Given the description of an element on the screen output the (x, y) to click on. 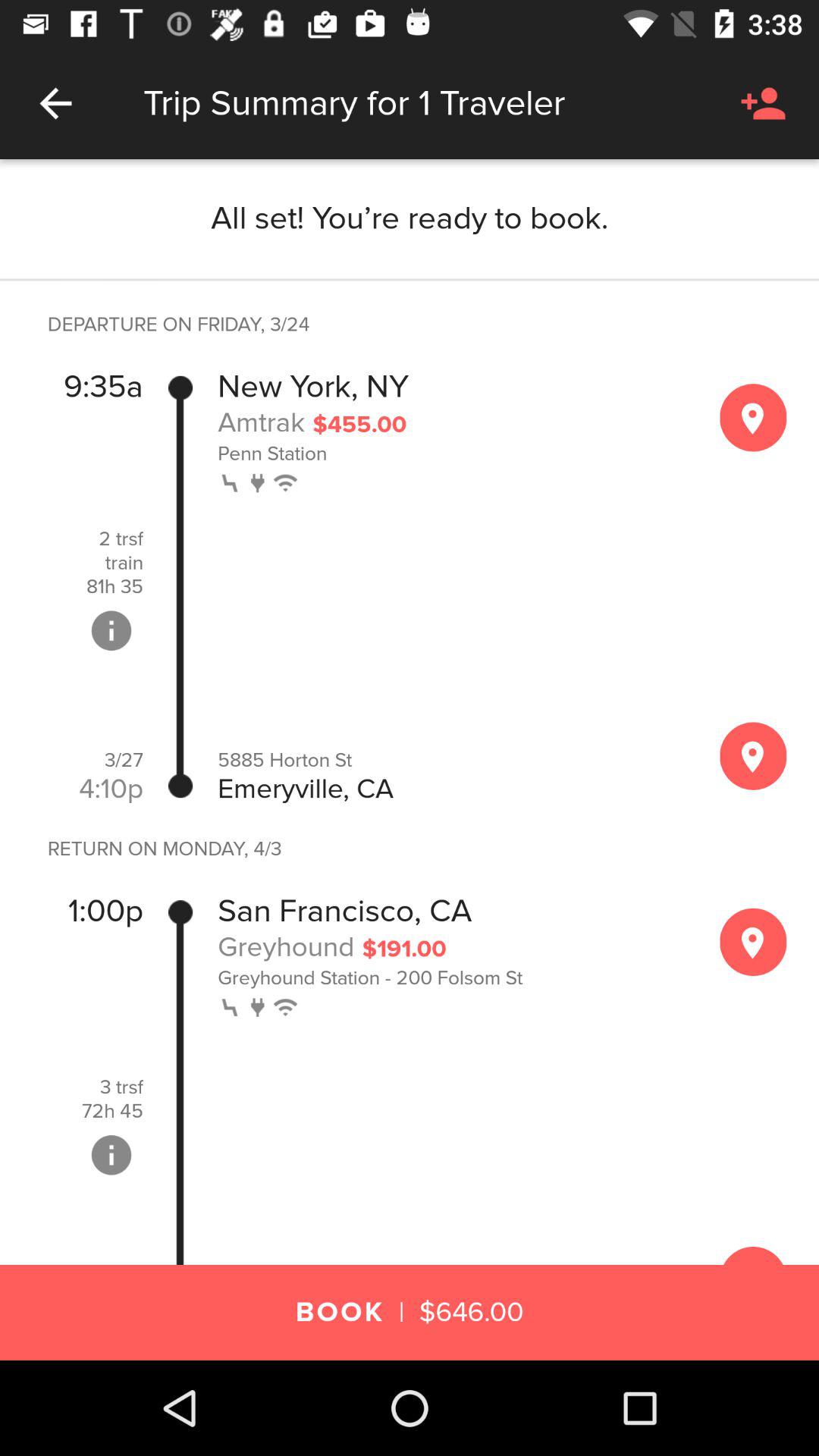
info details (111, 1154)
